Given the description of an element on the screen output the (x, y) to click on. 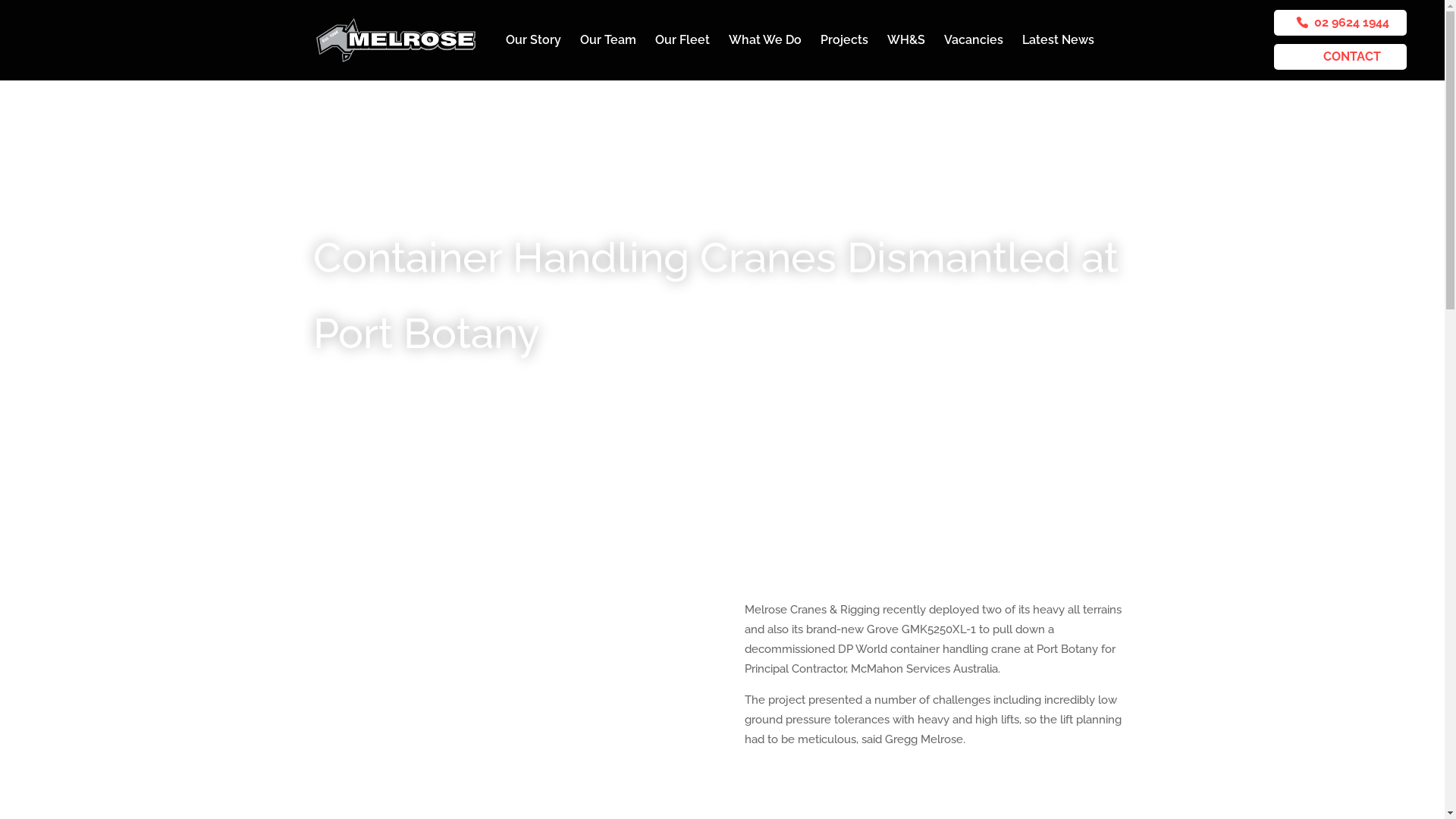
02 9624 1944 Element type: text (1340, 22)
Our Fleet Element type: text (682, 57)
Latest News Element type: text (1058, 57)
WH&S Element type: text (906, 57)
CONTACT Element type: text (1340, 56)
Vacancies Element type: text (972, 57)
Projects Element type: text (844, 57)
Our Team Element type: text (607, 57)
Our Story Element type: text (532, 57)
What We Do Element type: text (764, 57)
